Given the description of an element on the screen output the (x, y) to click on. 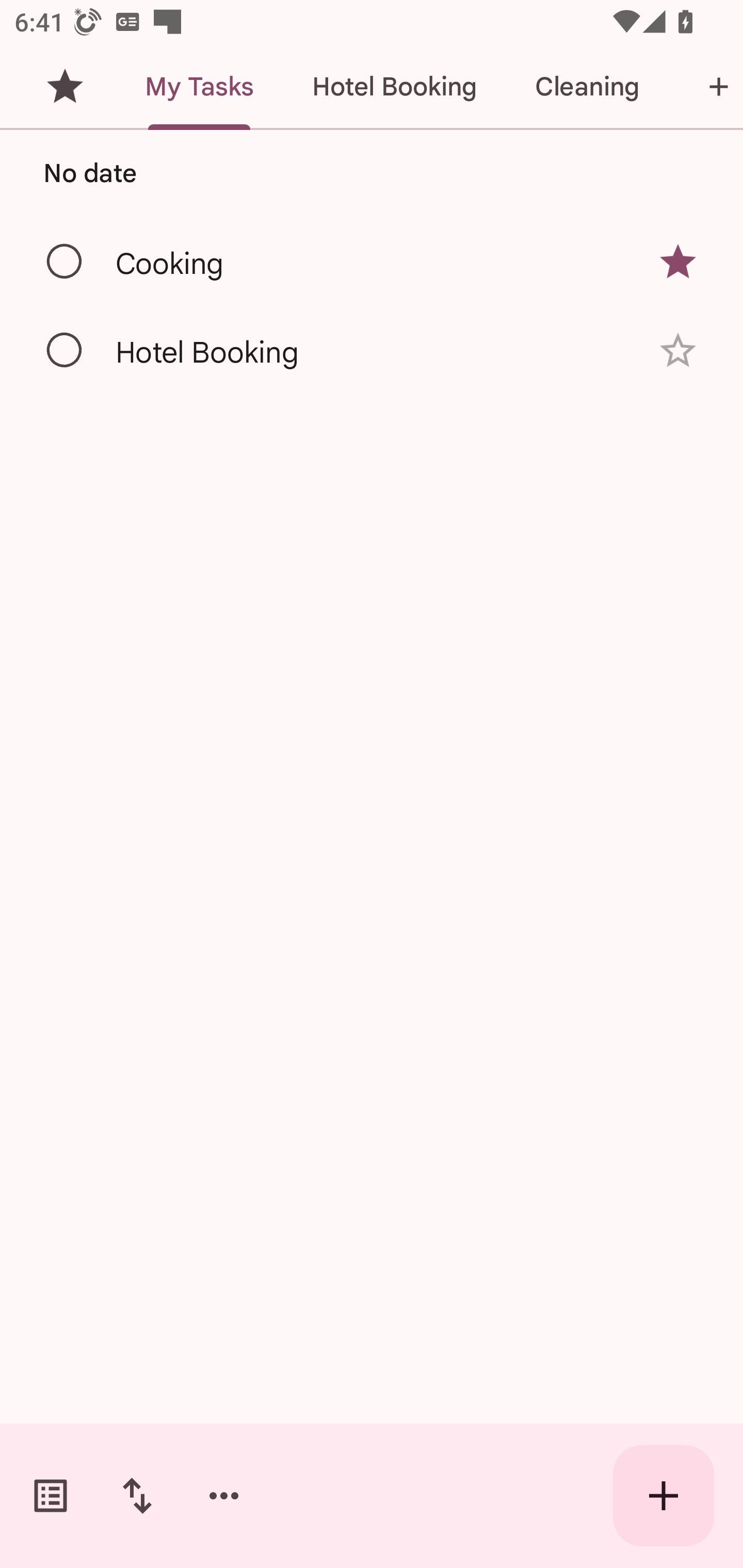
Starred (64, 86)
Hotel Booking (394, 86)
Cleaning (586, 86)
New list (705, 86)
Remove star (677, 261)
Mark as complete (64, 261)
Add star (677, 350)
Mark as complete (64, 351)
Switch task lists (50, 1495)
Create new task (663, 1495)
Change sort order (136, 1495)
More options (223, 1495)
